Given the description of an element on the screen output the (x, y) to click on. 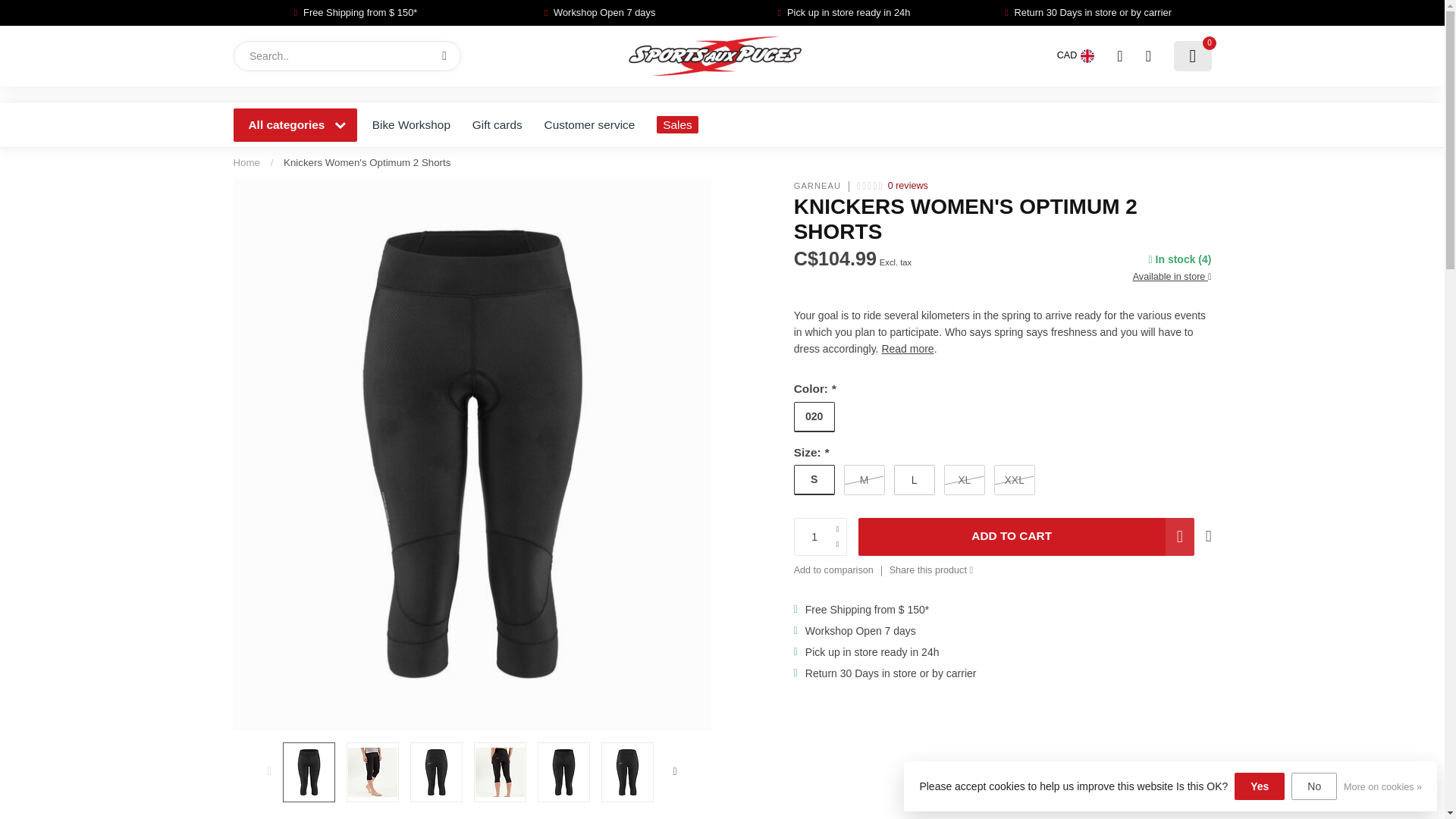
XXL (1014, 480)
XL (964, 480)
Home (246, 162)
0 (1192, 55)
1 (1060, 244)
S (813, 480)
M (864, 480)
Bike Workshop Gift cards Customer service Sales (785, 124)
L (913, 480)
020 (813, 417)
